Given the description of an element on the screen output the (x, y) to click on. 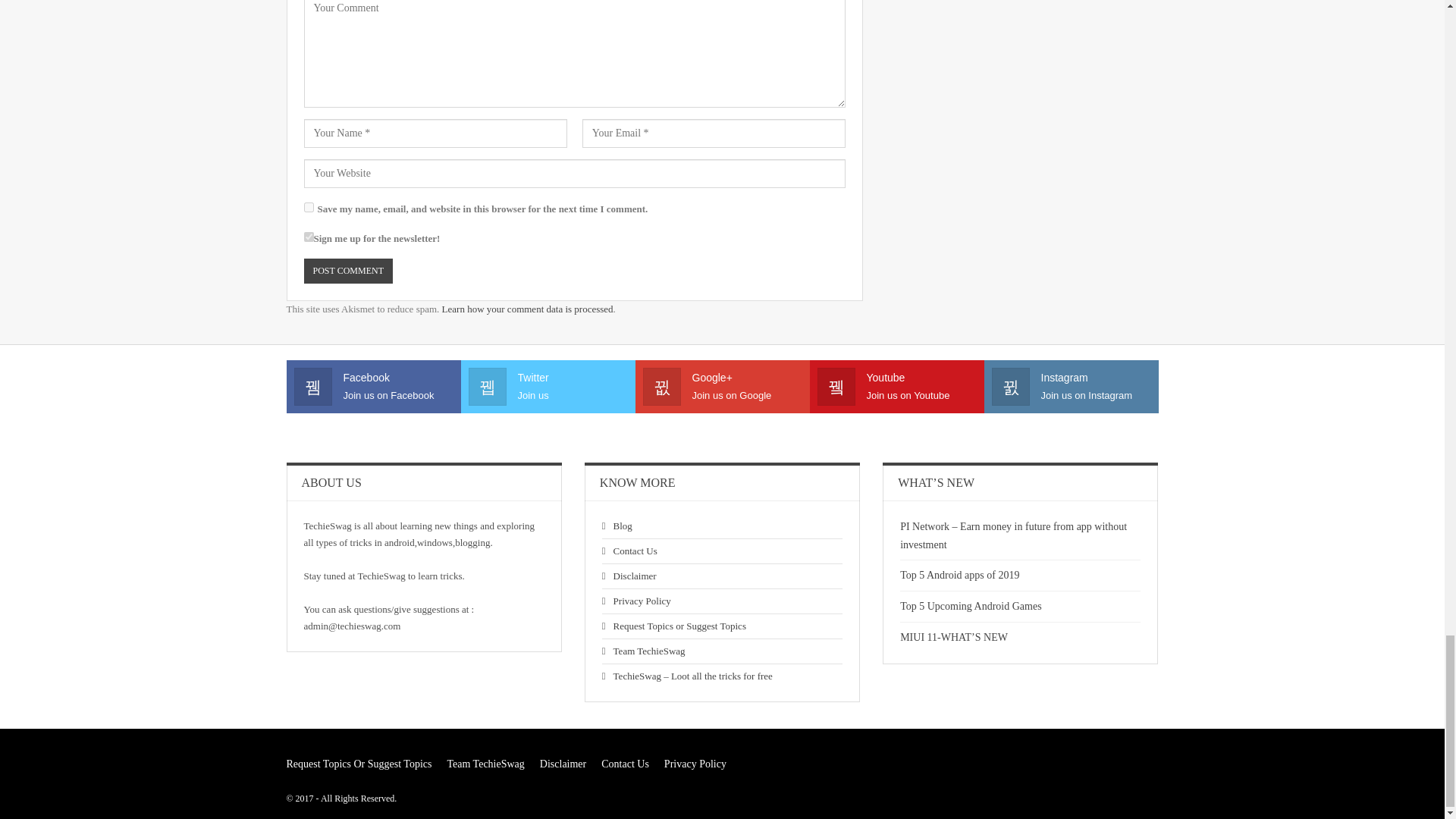
1 (307, 236)
yes (307, 207)
Post Comment (346, 270)
